Given the description of an element on the screen output the (x, y) to click on. 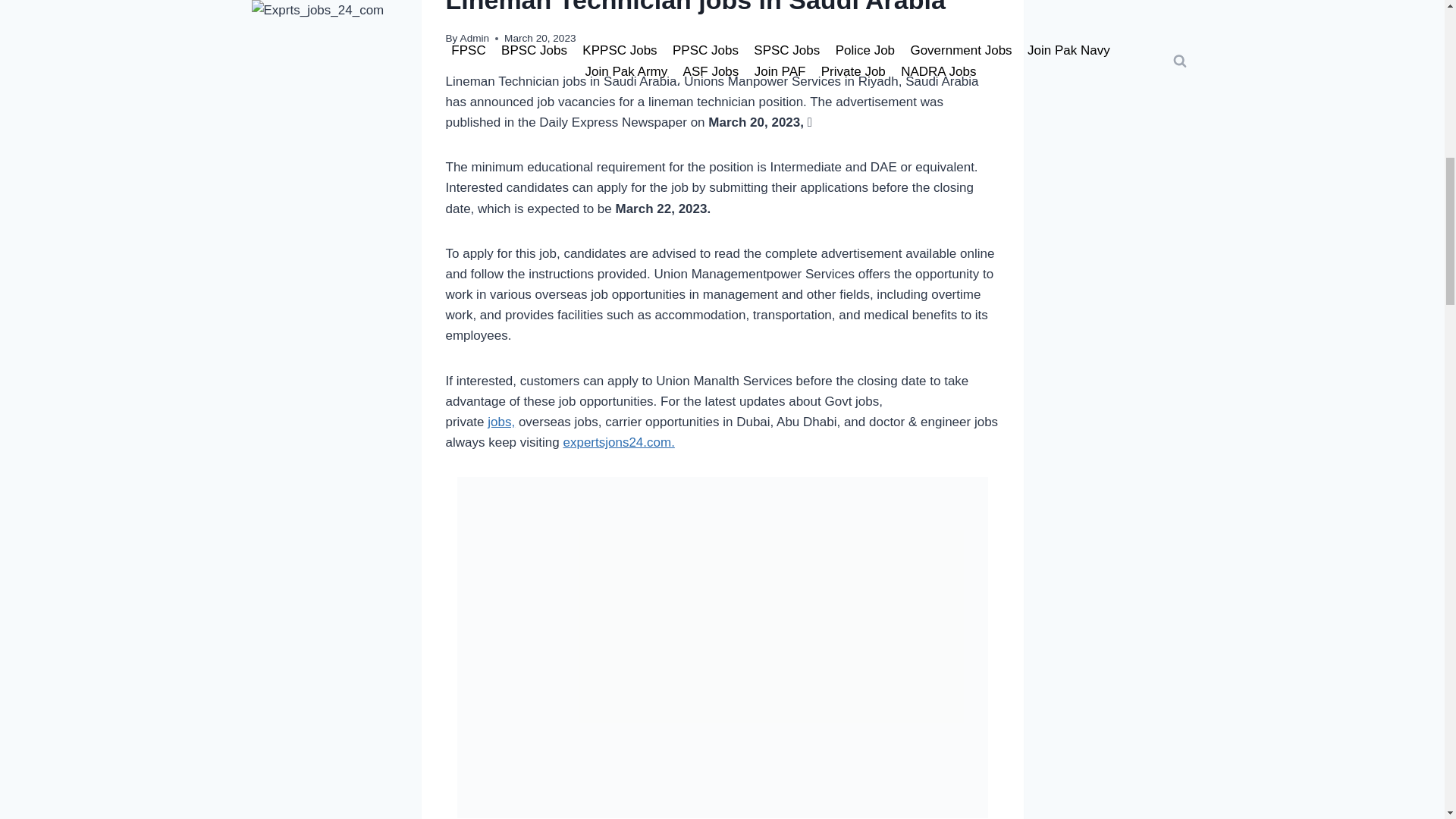
jobs, (501, 421)
Admin (474, 38)
expertsjons24.com. (618, 441)
